Given the description of an element on the screen output the (x, y) to click on. 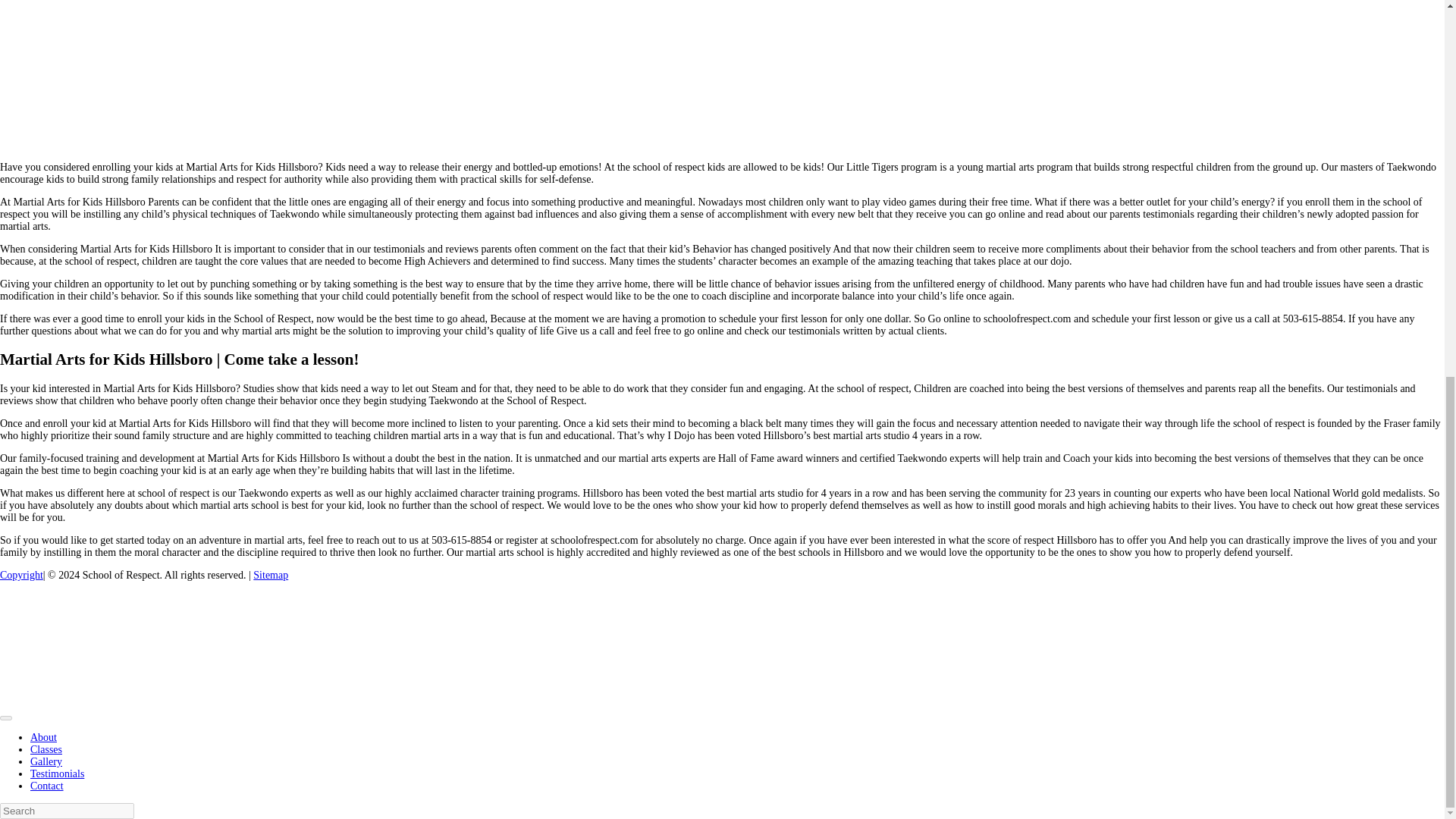
Classes (46, 749)
About (43, 737)
Gallery (46, 761)
Contact (47, 785)
Copyright (21, 574)
Sitemap (270, 574)
Testimonials (57, 773)
